Given the description of an element on the screen output the (x, y) to click on. 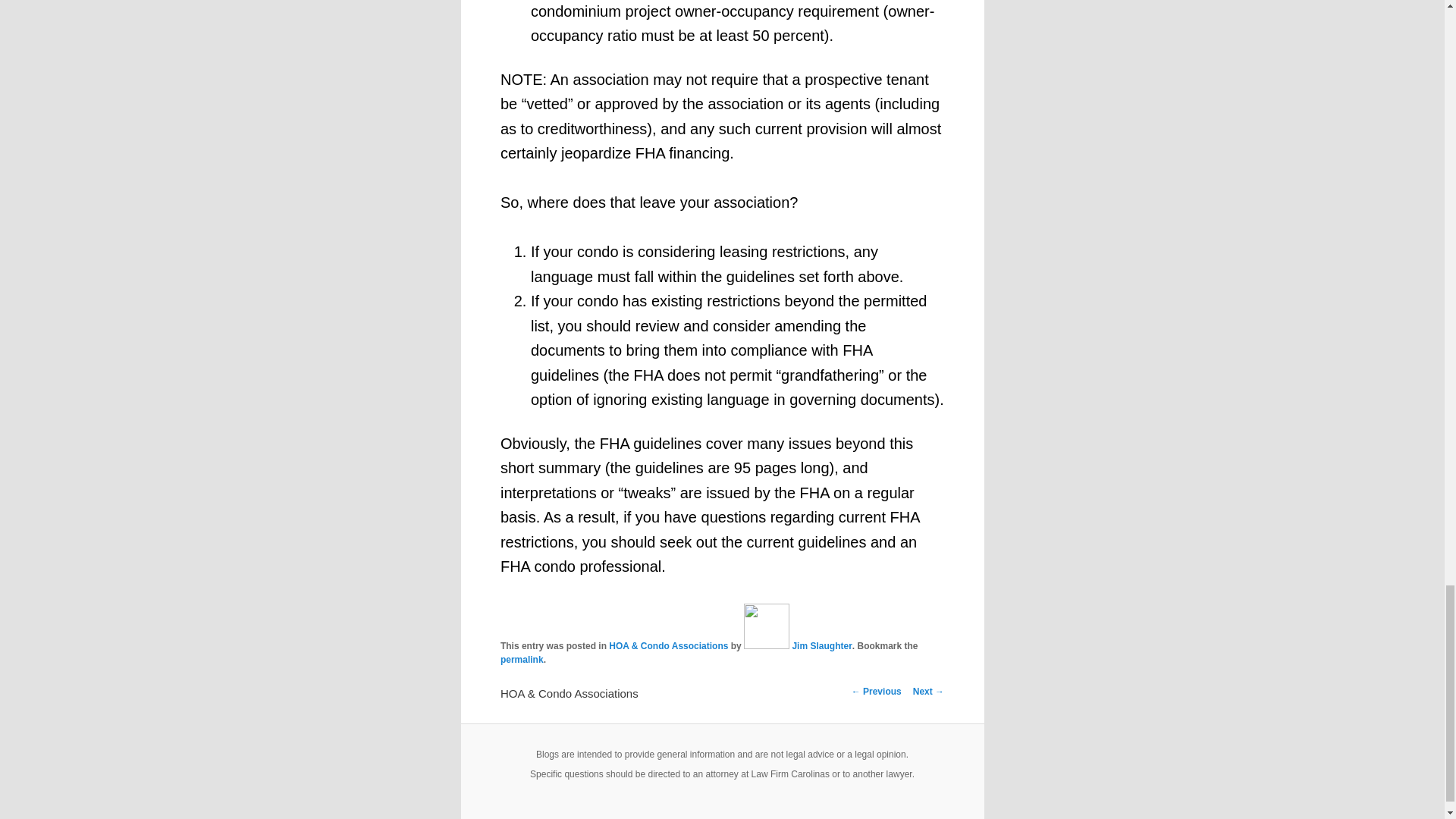
permalink (521, 659)
Jim Slaughter (797, 645)
